Given the description of an element on the screen output the (x, y) to click on. 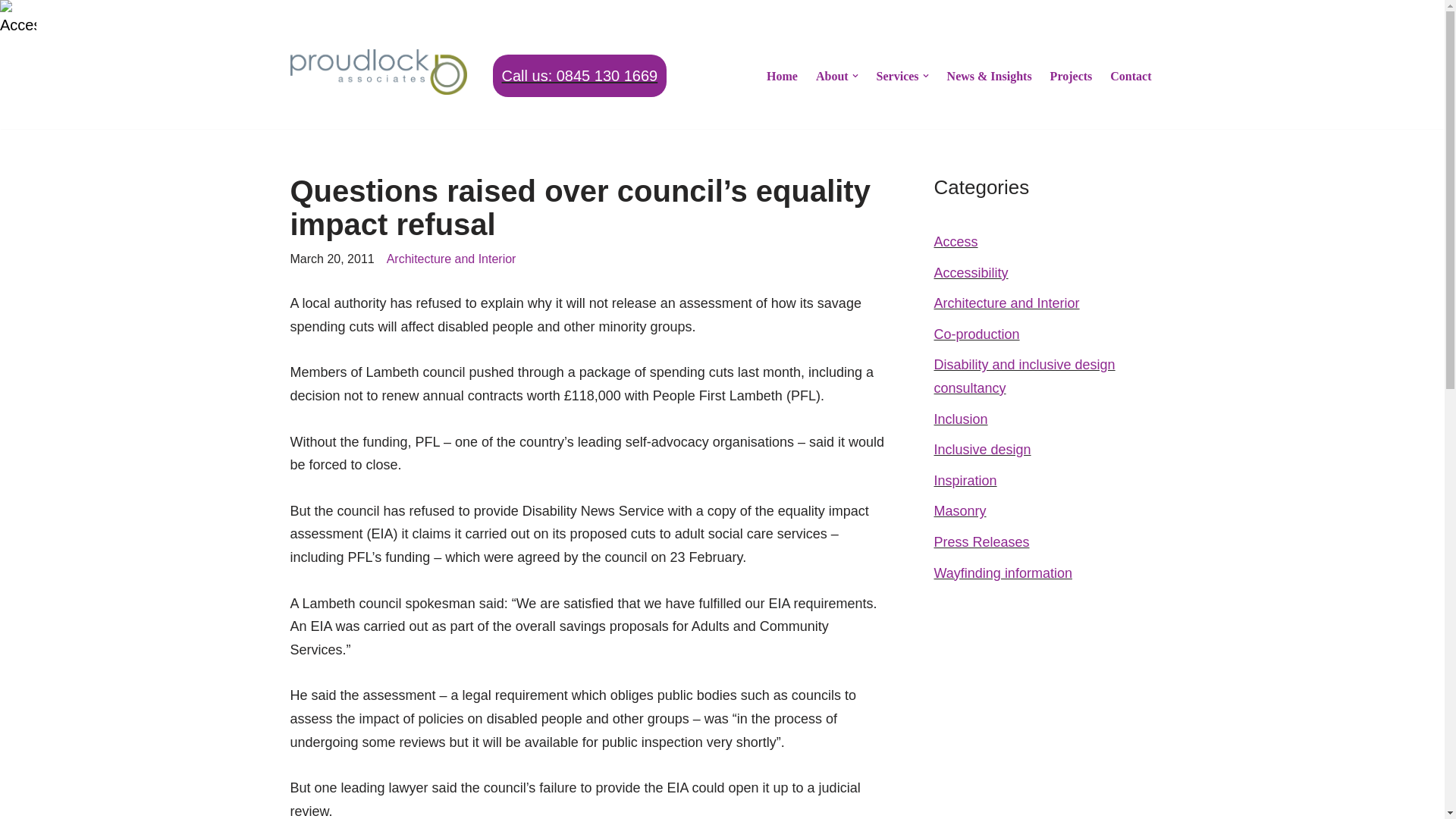
About (831, 76)
Services (897, 76)
Accessibility Helper sidebar (18, 18)
Access (956, 241)
Contact (1130, 76)
Home (782, 76)
Architecture and Interior (451, 258)
Call us: 0845 130 1669 (579, 75)
Projects (1071, 76)
